Given the description of an element on the screen output the (x, y) to click on. 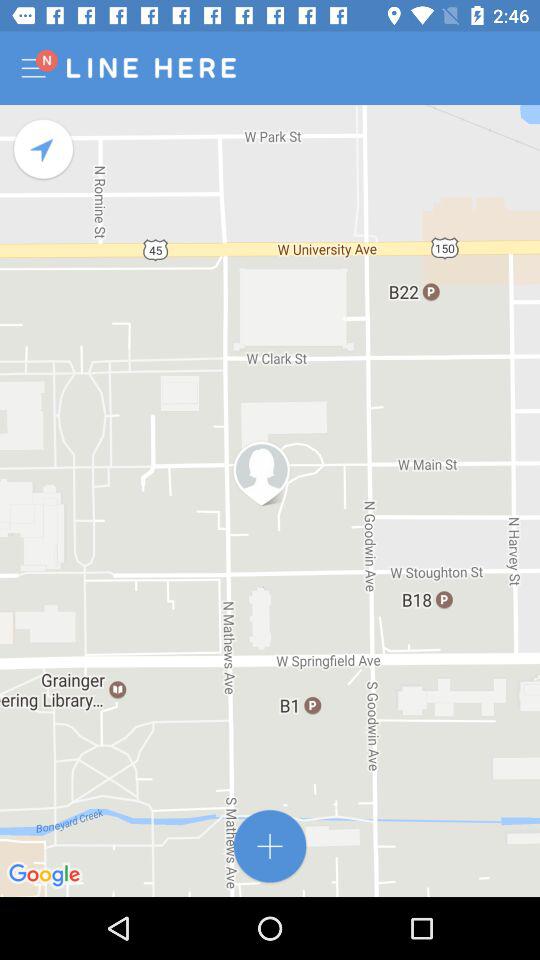
recenter map (44, 149)
